Given the description of an element on the screen output the (x, y) to click on. 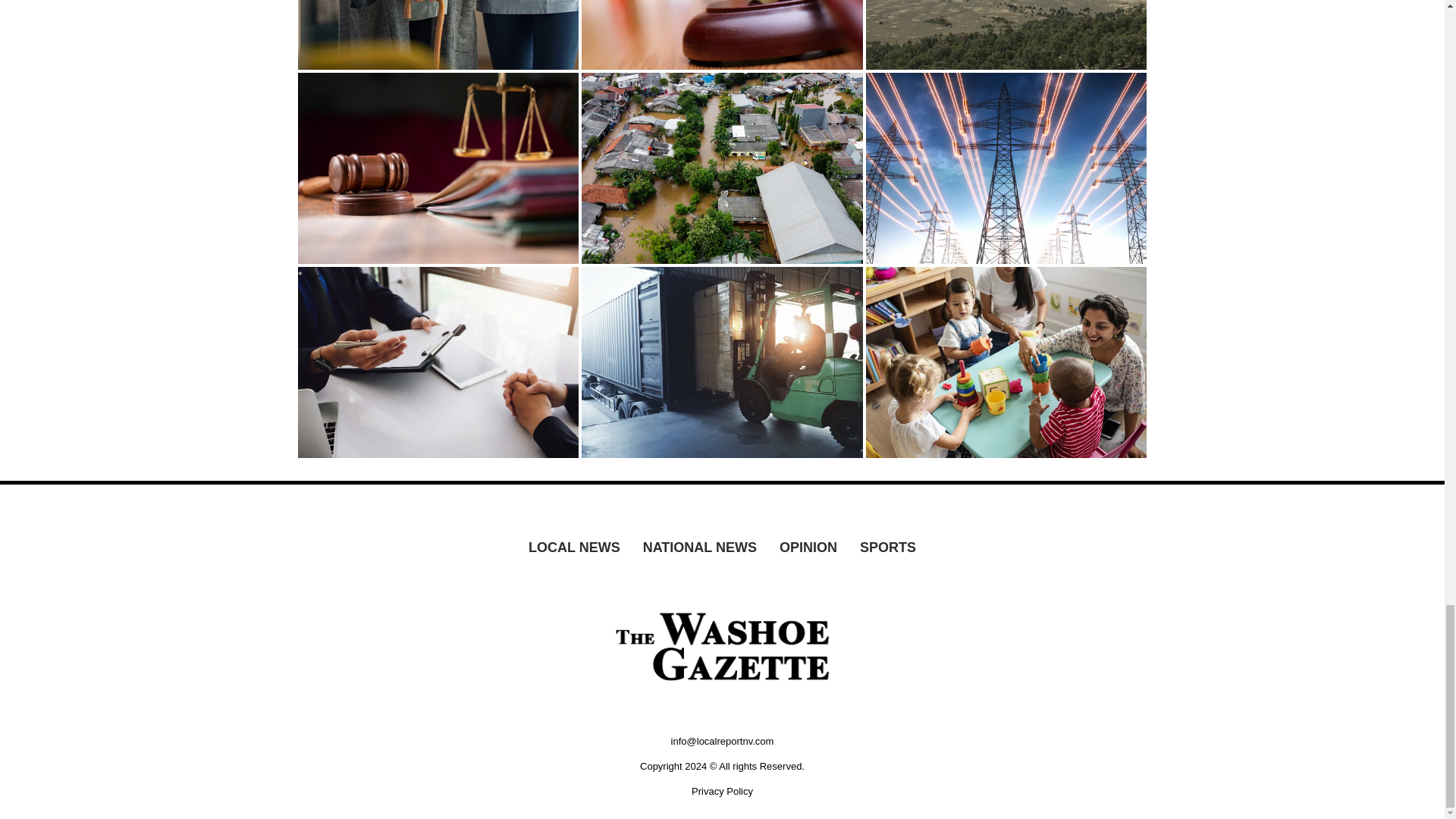
OPINION (808, 547)
LOCAL NEWS (573, 547)
NATIONAL NEWS (699, 547)
SPORTS (887, 547)
